Given the description of an element on the screen output the (x, y) to click on. 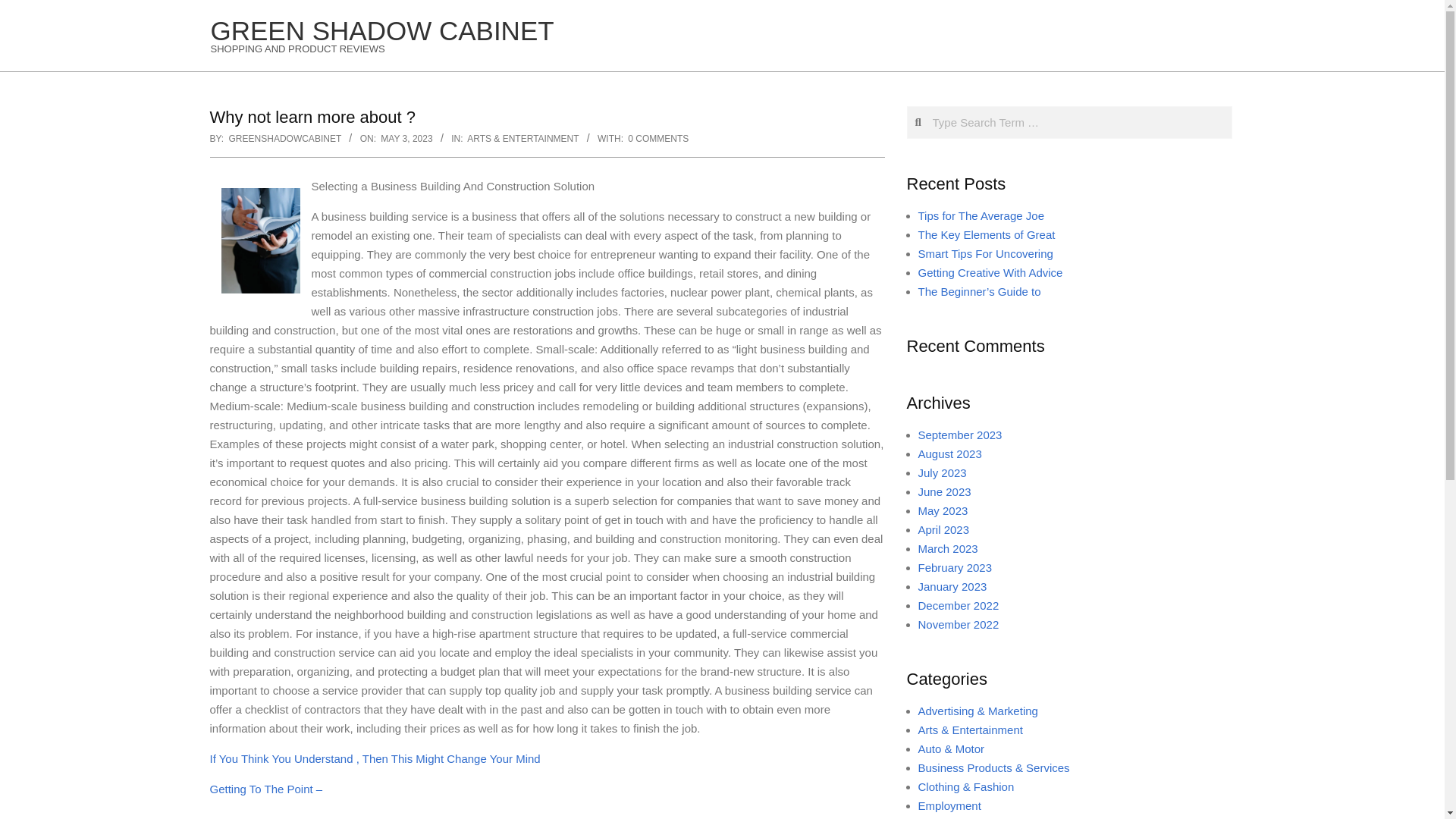
June 2023 (944, 491)
0 COMMENTS (657, 138)
November 2022 (957, 624)
February 2023 (954, 567)
January 2023 (952, 585)
December 2022 (957, 604)
September 2023 (959, 434)
The Key Elements of Great (985, 234)
GREENSHADOWCABINET (284, 138)
Posts by greenshadowcabinet (284, 138)
